Given the description of an element on the screen output the (x, y) to click on. 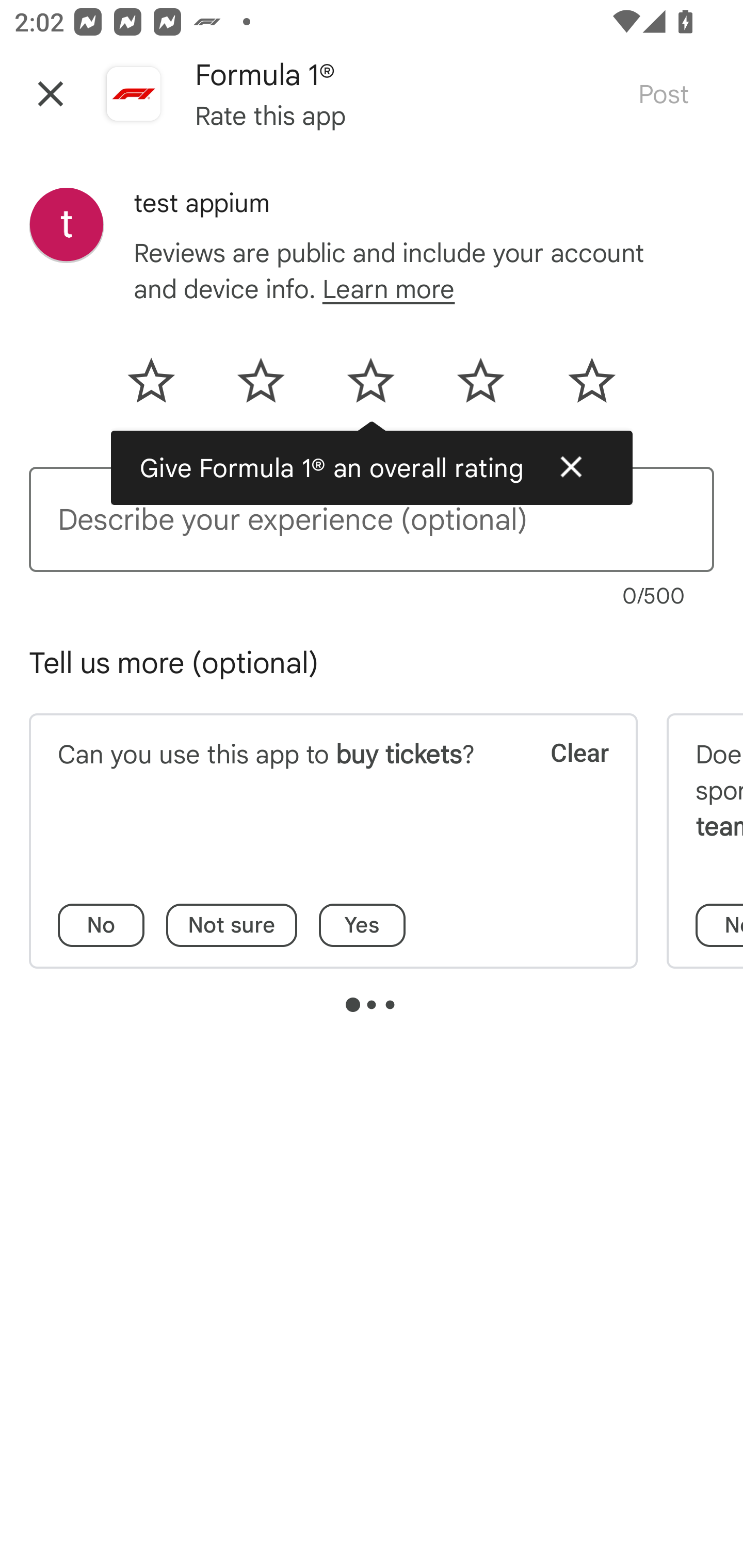
Close (50, 93)
Post (663, 93)
First star unselected (163, 387)
Second star unselected (260, 387)
Third star unselected (370, 387)
Fourth star unselected (480, 387)
Fifth star unselected (577, 387)
Close (571, 467)
Describe your experience (optional) (371, 519)
Clear (565, 778)
No (100, 925)
Not sure (231, 925)
Yes (361, 925)
